Given the description of an element on the screen output the (x, y) to click on. 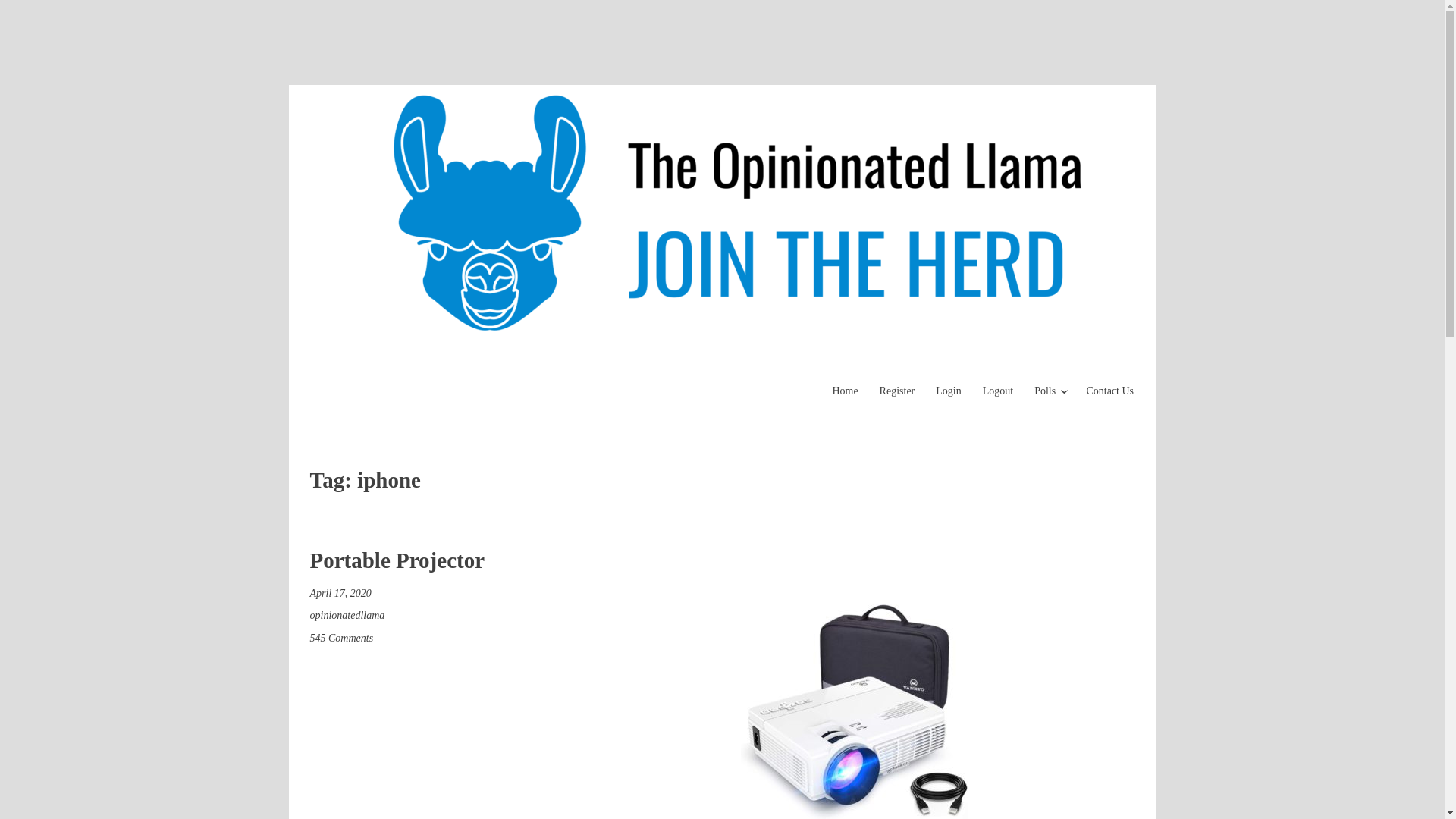
Login (948, 390)
Home (844, 390)
The Opinionated Llama (491, 422)
Register (897, 390)
Logout (997, 390)
Polls (1044, 390)
